Given the description of an element on the screen output the (x, y) to click on. 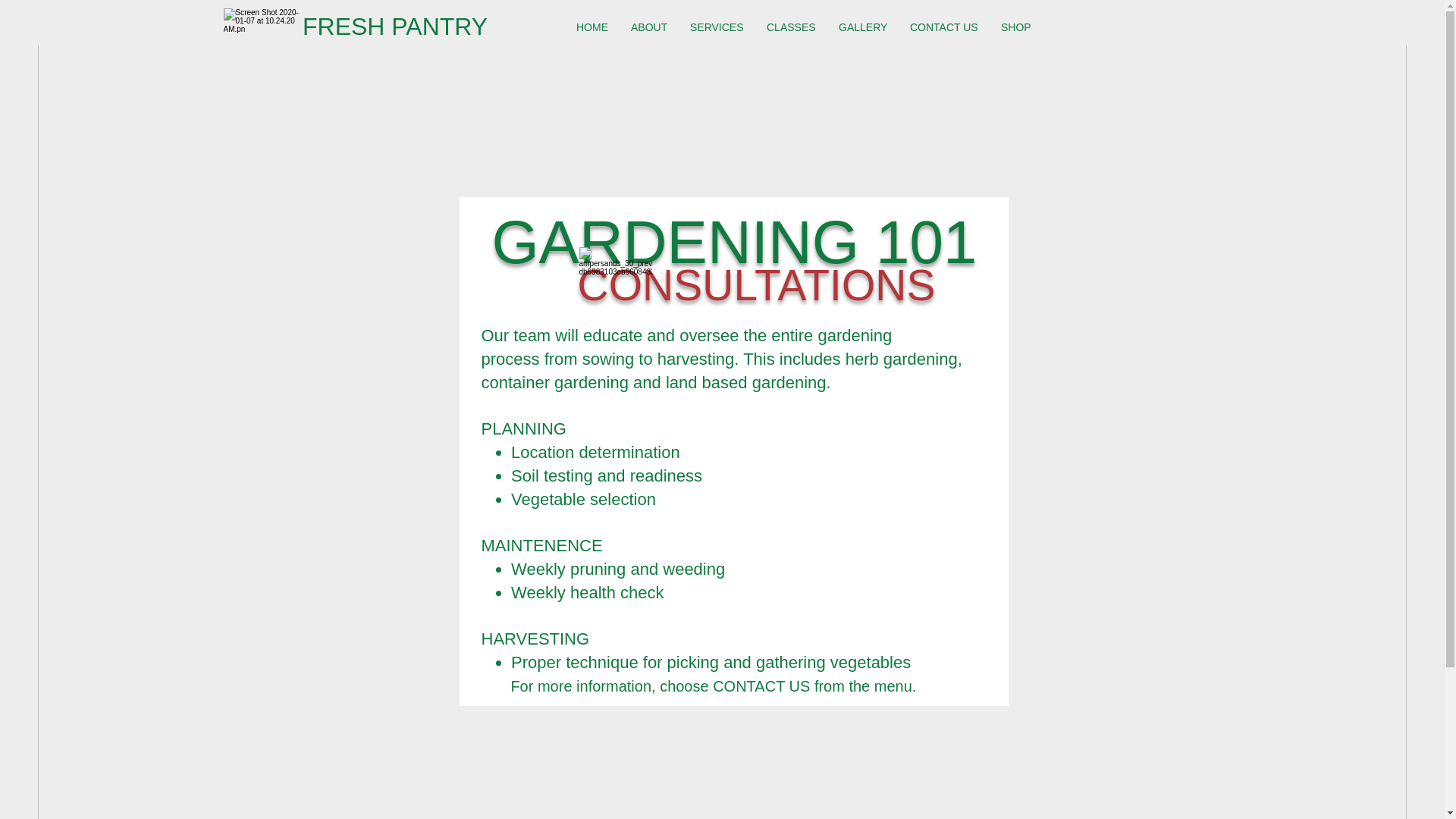
SERVICES (716, 27)
ABOUT (649, 27)
GALLERY (862, 27)
FRESH PANTRY (394, 26)
HOME (592, 27)
CONTACT US (944, 27)
SHOP (1016, 27)
CLASSES (791, 27)
